Given the description of an element on the screen output the (x, y) to click on. 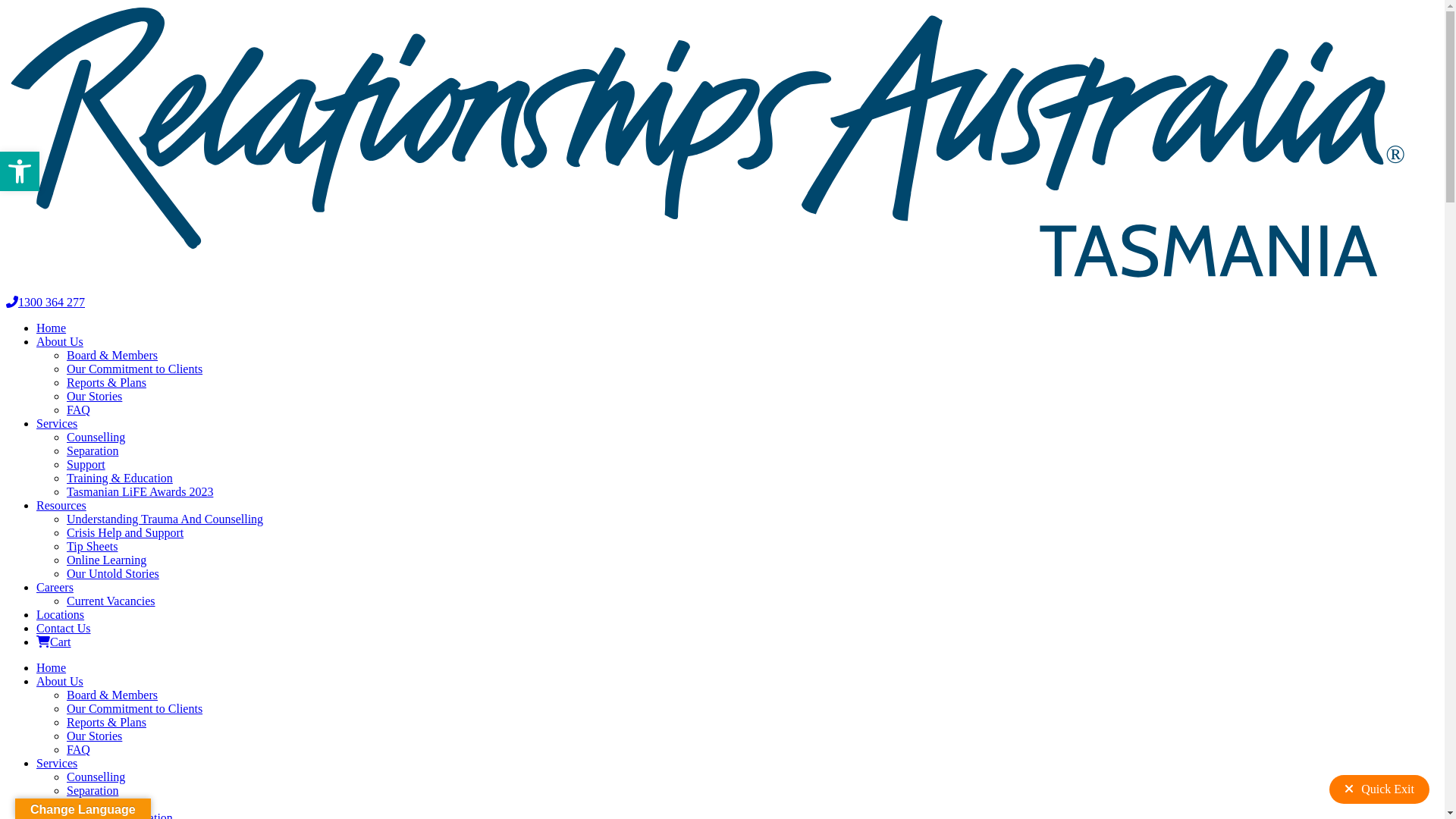
Support Element type: text (85, 803)
Careers Element type: text (54, 586)
Our Commitment to Clients Element type: text (134, 368)
Support Element type: text (85, 464)
Home Element type: text (50, 667)
Services Element type: text (56, 423)
Current Vacancies Element type: text (110, 600)
Board & Members Element type: text (111, 354)
Our Stories Element type: text (94, 395)
Separation Element type: text (92, 790)
Tip Sheets Element type: text (91, 545)
Our Untold Stories Element type: text (112, 573)
Skip to content Element type: text (5, 5)
About Us Element type: text (59, 680)
Our Commitment to Clients Element type: text (134, 708)
Reports & Plans Element type: text (106, 721)
Understanding Trauma And Counselling Element type: text (164, 518)
About Us Element type: text (59, 341)
Resources Element type: text (61, 504)
Locations Element type: text (60, 614)
Counselling Element type: text (95, 436)
Home Element type: text (50, 327)
1300 364 277 Element type: text (45, 301)
FAQ Element type: text (78, 749)
Online Learning Element type: text (106, 559)
Tasmanian LiFE Awards 2023 Element type: text (139, 491)
Crisis Help and Support Element type: text (124, 532)
FAQ Element type: text (78, 409)
Cart Element type: text (53, 641)
Services Element type: text (56, 762)
Training & Education Element type: text (119, 477)
Reports & Plans Element type: text (106, 382)
Board & Members Element type: text (111, 694)
Open toolbar
Accessibility Tools Element type: text (19, 171)
Separation Element type: text (92, 450)
Our Stories Element type: text (94, 735)
Counselling Element type: text (95, 776)
Contact Us Element type: text (63, 627)
